Given the description of an element on the screen output the (x, y) to click on. 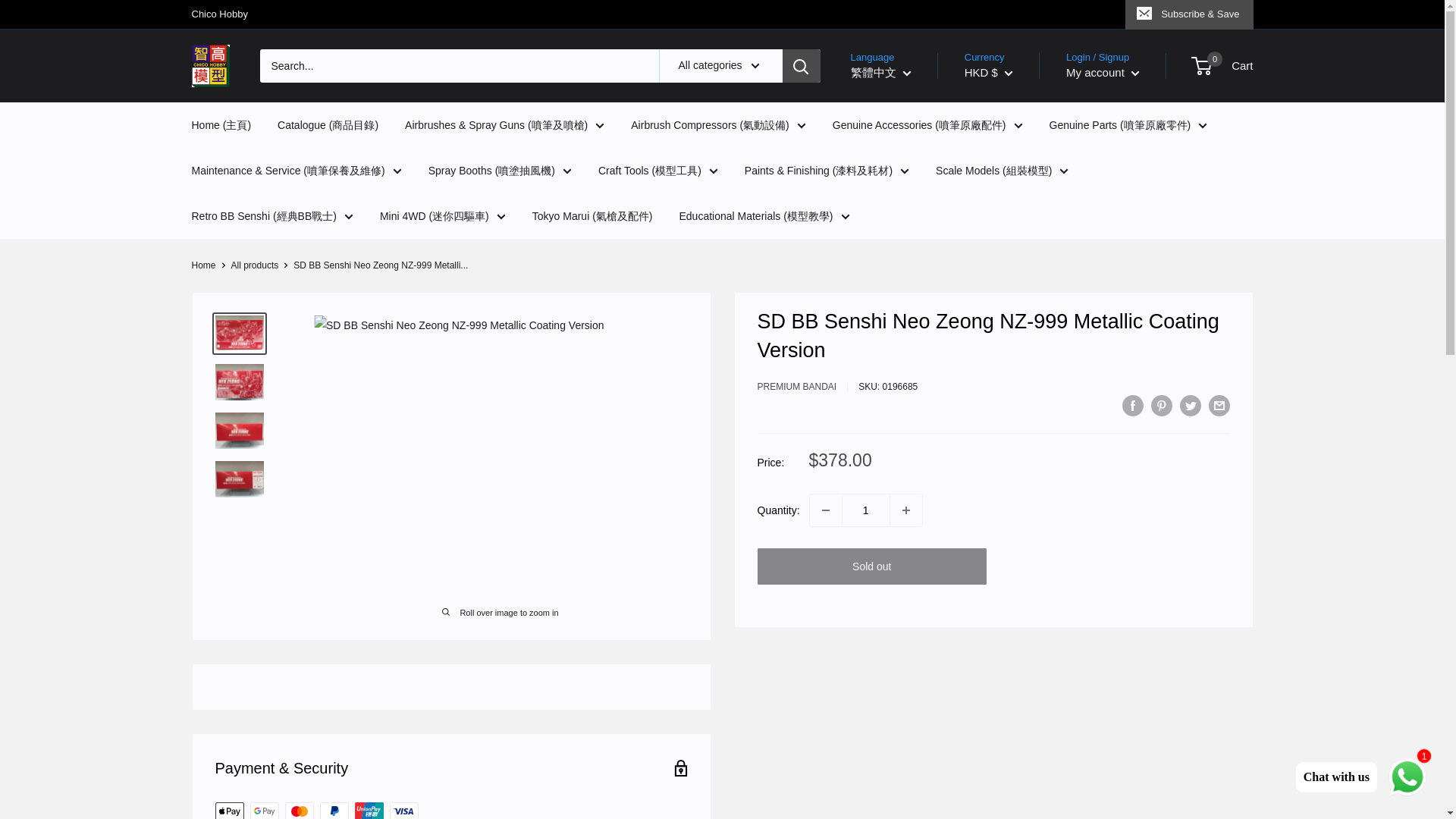
Decrease quantity by 1 (825, 510)
1 (865, 510)
Increase quantity by 1 (905, 510)
